Given the description of an element on the screen output the (x, y) to click on. 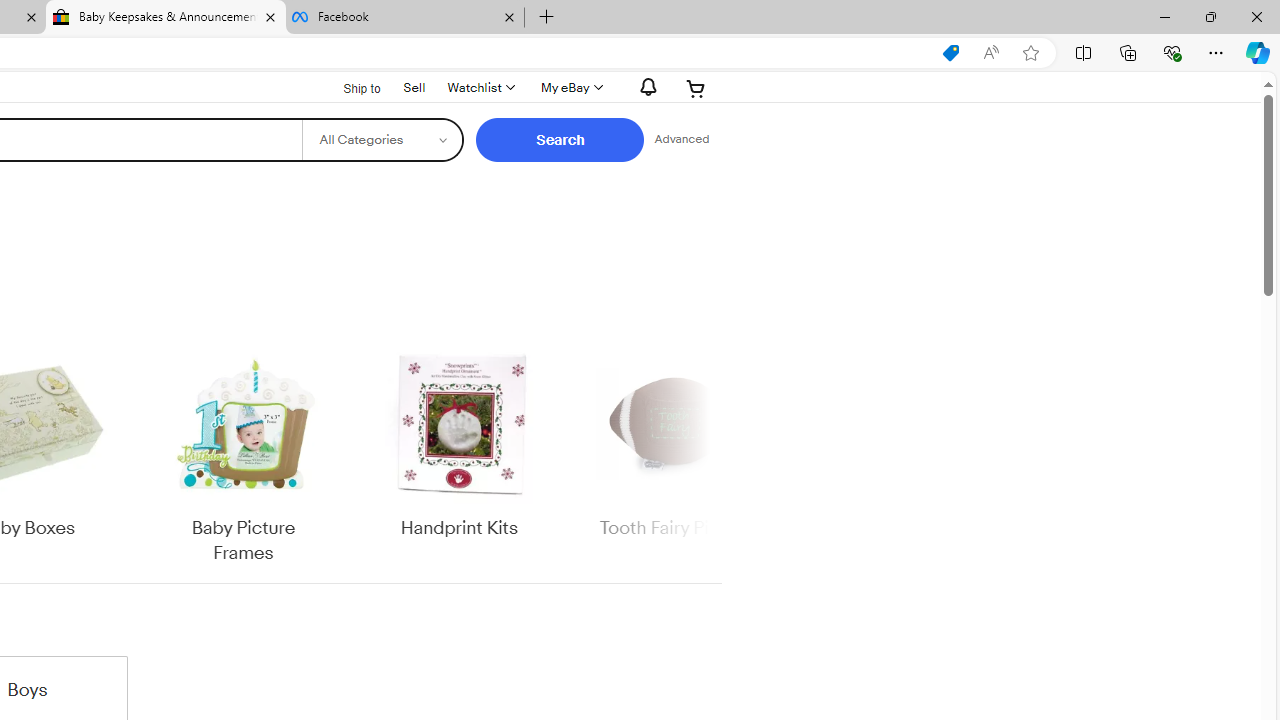
AutomationID: gh-eb-Alerts (645, 87)
This site has coupons! Shopping in Microsoft Edge (950, 53)
Notifications (642, 87)
